Given the description of an element on the screen output the (x, y) to click on. 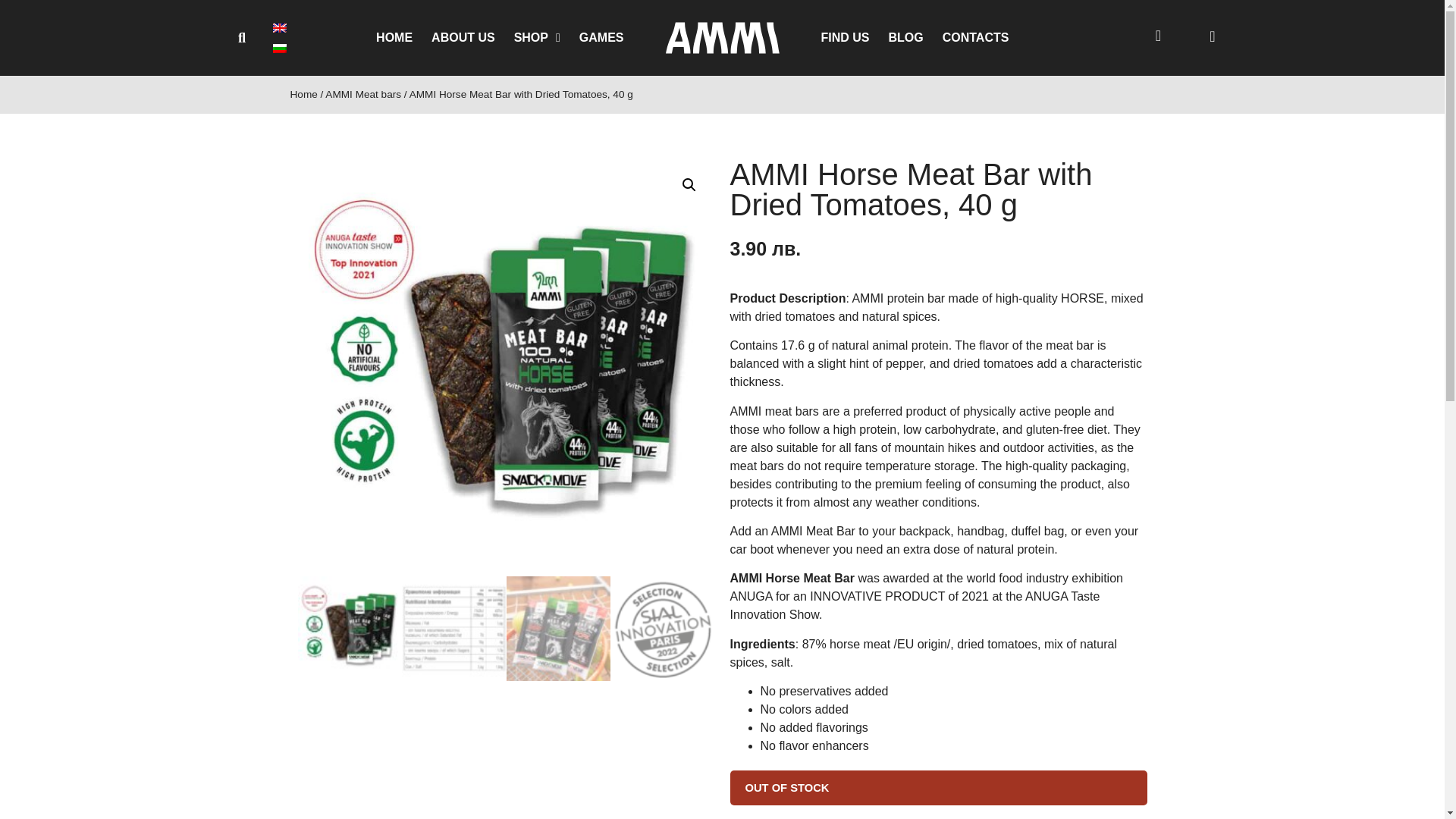
CONTACTS (975, 37)
FIND US (845, 37)
SHOP (536, 37)
HOME (393, 37)
GAMES (601, 37)
ABOUT US (462, 37)
BLOG (905, 37)
